Given the description of an element on the screen output the (x, y) to click on. 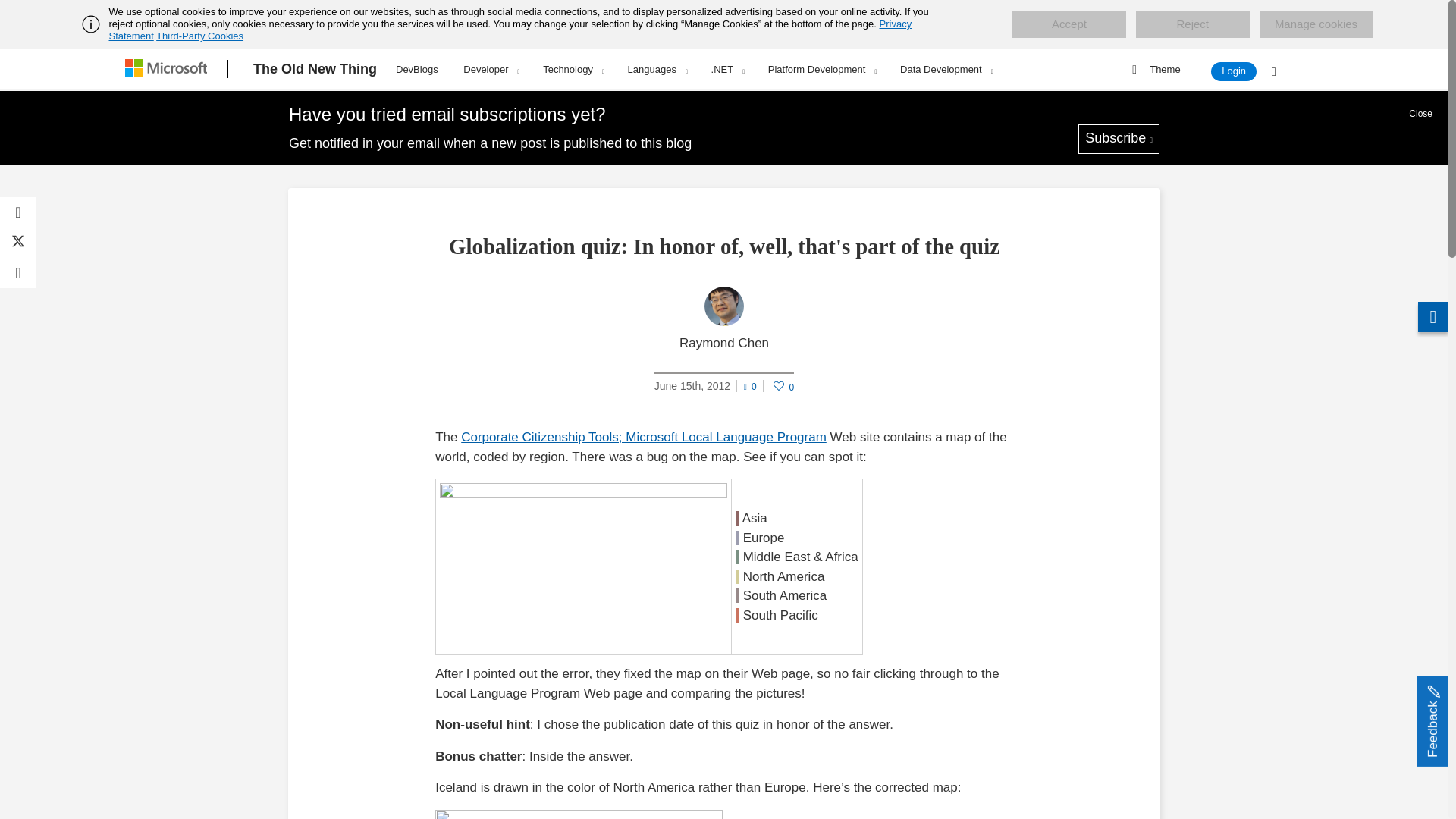
Technology (572, 69)
Share on LinkedIn (18, 272)
Accept (1068, 23)
Reject (1192, 23)
The Old New Thing (315, 69)
Privacy Statement (510, 29)
Third-Party Cookies (199, 35)
DevBlogs (416, 67)
Languages (657, 69)
Share on Facebook (18, 212)
Manage cookies (1316, 23)
Share on Twitter (18, 242)
Developer (490, 69)
